Given the description of an element on the screen output the (x, y) to click on. 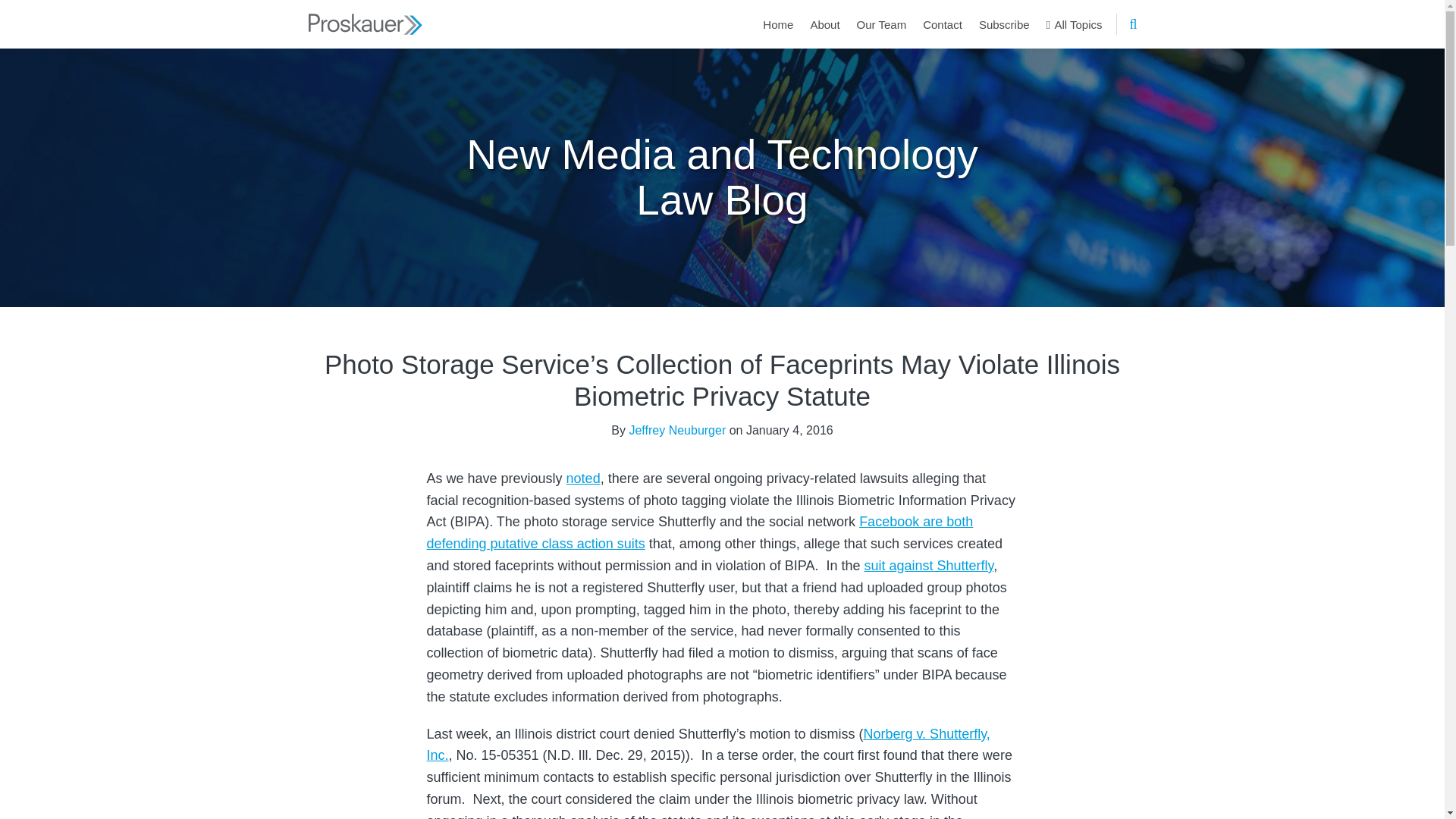
noted (582, 478)
Jeffrey Neuburger (676, 429)
Our Team (882, 24)
Home (777, 24)
suit against Shutterfly (927, 565)
Contact (942, 24)
Norberg v. Shutterfly, Inc. (708, 744)
About (824, 24)
All Topics (1074, 24)
Subscribe (1003, 24)
Facebook are both defending putative class action suits (699, 532)
New Media and Technology Law Blog (721, 176)
